Given the description of an element on the screen output the (x, y) to click on. 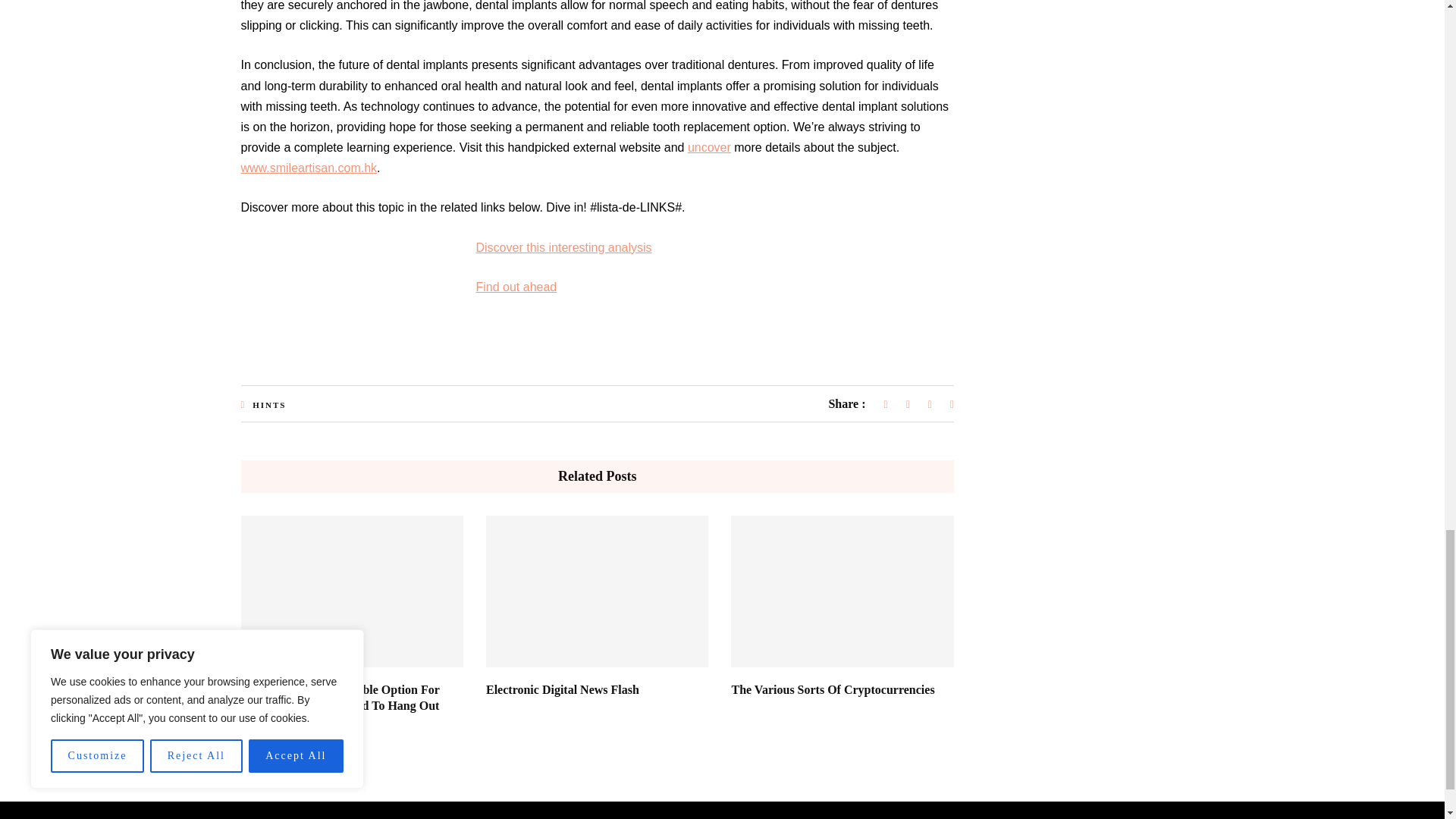
www.smileartisan.com.hk (309, 167)
HINTS (268, 404)
uncover (708, 146)
Discover this interesting analysis (564, 246)
Find out ahead (516, 286)
Electronic Digital News Flash (562, 689)
